Given the description of an element on the screen output the (x, y) to click on. 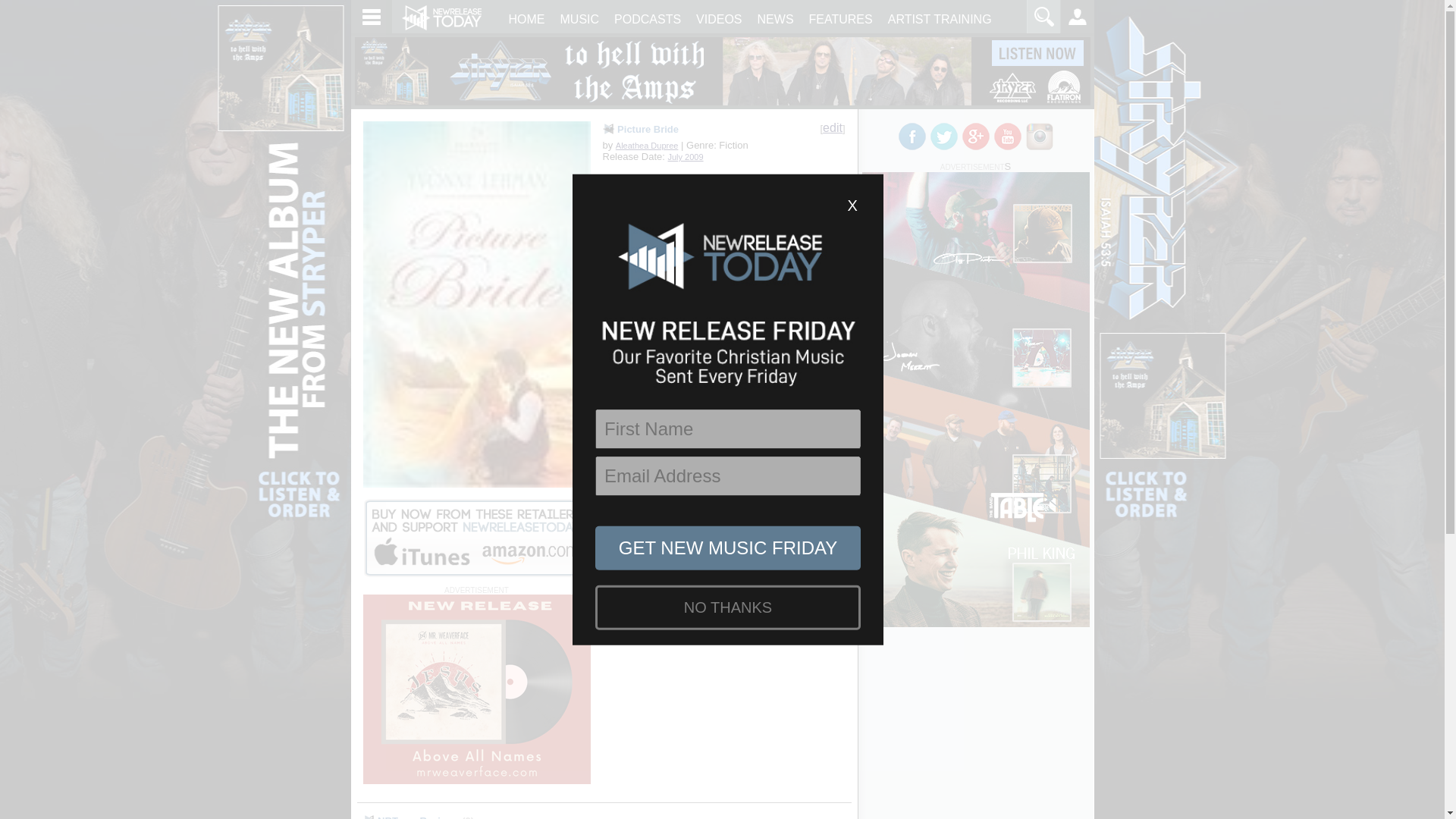
GET NEW MUSIC FRIDAY (727, 547)
VIDEOS (718, 18)
FEATURES (841, 18)
NO THANKS (727, 606)
Music (579, 18)
Videos (647, 18)
Christian Music, New Christian Music - NewReleaseToday (440, 15)
NEWS (775, 18)
Videos (718, 18)
MUSIC (579, 18)
PODCASTS (647, 18)
HOME (525, 18)
